Given the description of an element on the screen output the (x, y) to click on. 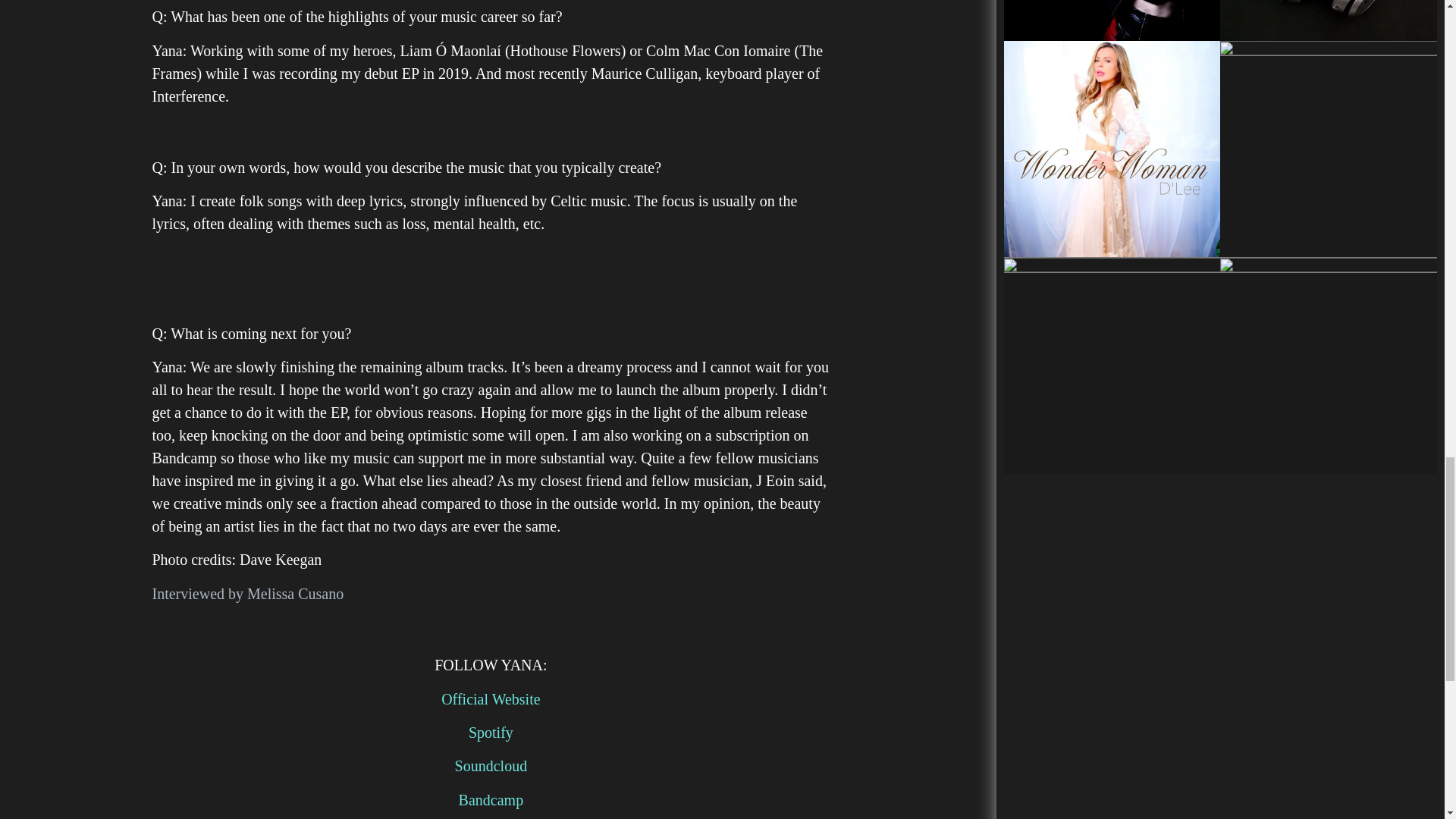
Spotify (490, 732)
Bandcamp (491, 799)
Soundcloud (490, 765)
Official Website (490, 699)
